Given the description of an element on the screen output the (x, y) to click on. 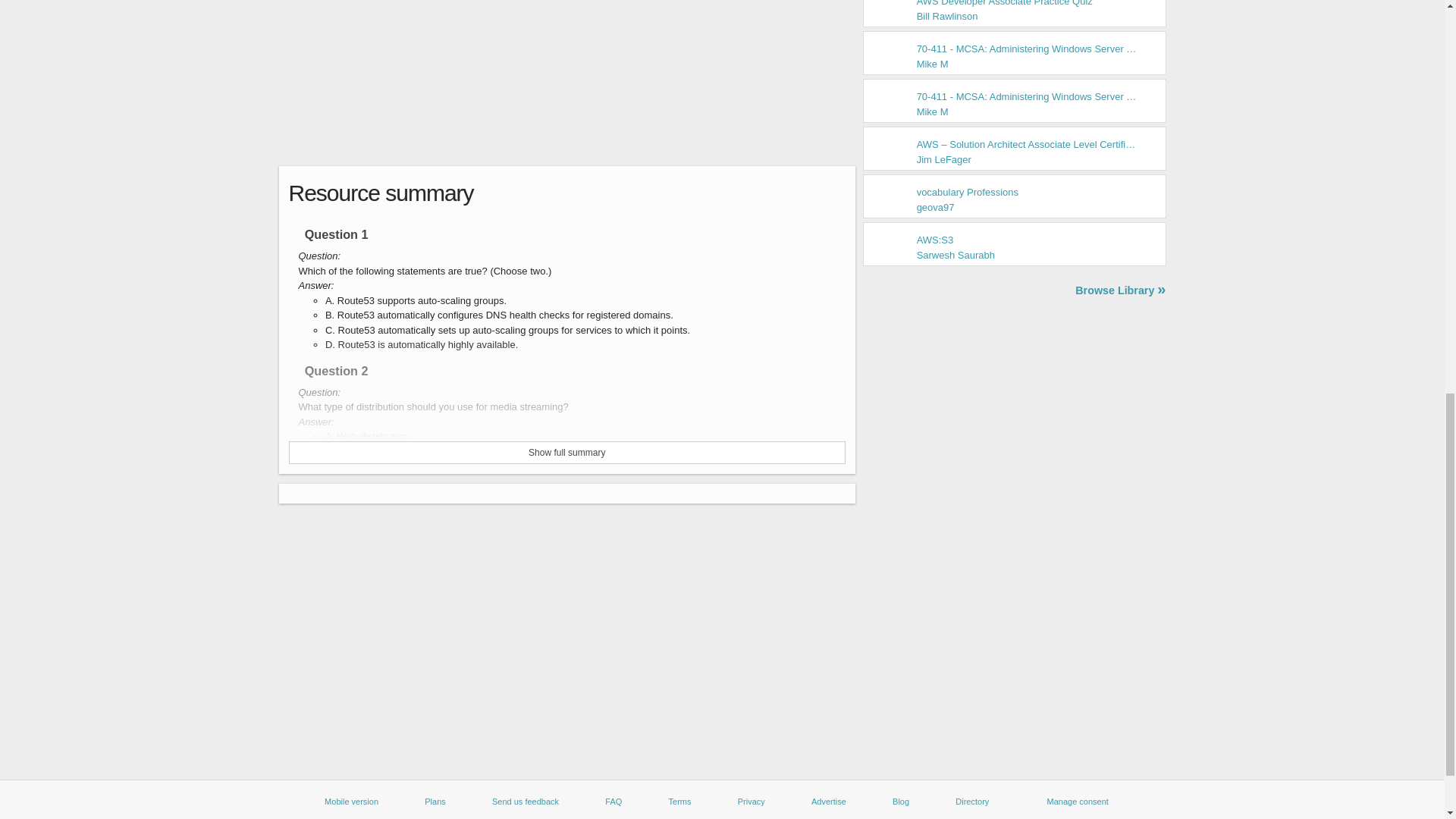
Bill Rawlinson (947, 16)
Mike M (933, 63)
Email link to a friend (820, 192)
Print (938, 192)
Embed in blog or share on GoConqr (880, 192)
Show full summary (566, 452)
